Given the description of an element on the screen output the (x, y) to click on. 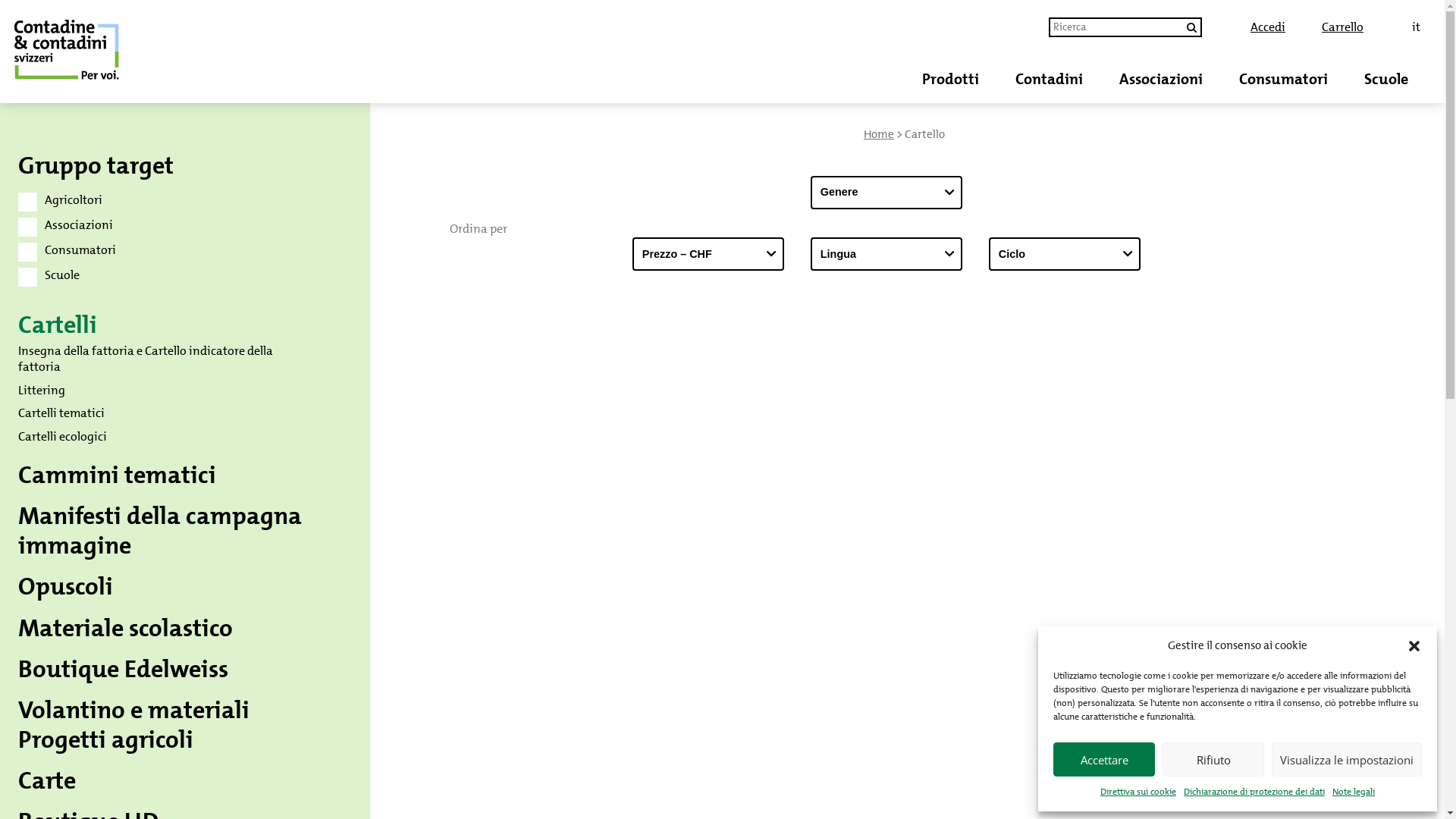
Associazioni Element type: text (1160, 78)
Direttiva sui cookie Element type: text (1138, 792)
Cartelli ecologici Element type: text (62, 436)
Dichiarazione di protezione dei dati Element type: text (1253, 792)
Negozio di contadine & contadini svizzeri Element type: text (124, 51)
Littering Element type: text (41, 390)
Cartelli tematici Element type: text (61, 412)
Boutique Edelweiss Element type: text (123, 668)
Manifesti della campagna immagine Element type: text (159, 530)
Volantino e materiali Progetti agricoli Element type: text (133, 724)
Rifiuto Element type: text (1213, 759)
Visualizza le impostazioni Element type: text (1346, 759)
Genere Element type: text (886, 192)
Carte Element type: text (46, 780)
Insegna della fattoria e Cartello indicatore della fattoria Element type: text (145, 358)
Opuscoli Element type: text (65, 586)
Home Element type: text (878, 134)
Lingua Element type: text (886, 253)
Consumatori Element type: text (1283, 78)
Carrello Element type: text (1342, 26)
Accettare Element type: text (1103, 759)
Cartelli Element type: text (57, 324)
Ciclo Element type: text (1064, 253)
Cammini tematici Element type: text (117, 474)
Contadini Element type: text (1049, 78)
Scuole Element type: text (1386, 78)
Materiale scolastico Element type: text (125, 627)
Prodotti Element type: text (950, 78)
Note legali Element type: text (1353, 792)
Accedi Element type: text (1267, 26)
